Given the description of an element on the screen output the (x, y) to click on. 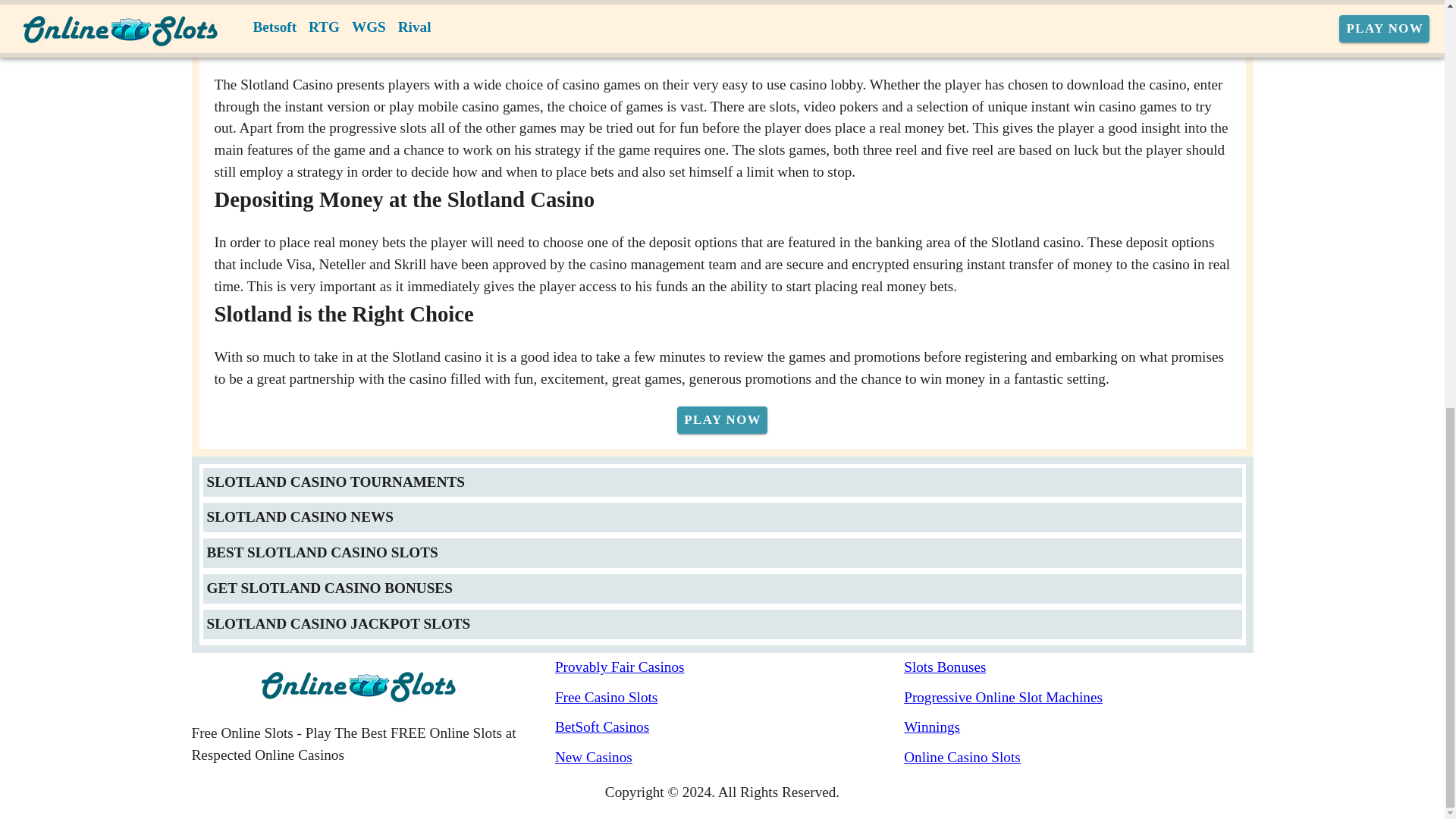
Provably Fair Casinos (729, 667)
Winnings (1078, 727)
Slots Bonuses (1078, 667)
New Casinos (729, 757)
BetSoft Casinos (729, 727)
PLAY NOW (722, 420)
Progressive Online Slot Machines (1078, 698)
Online Casino Slots (1078, 757)
Free Casino Slots (729, 698)
